Given the description of an element on the screen output the (x, y) to click on. 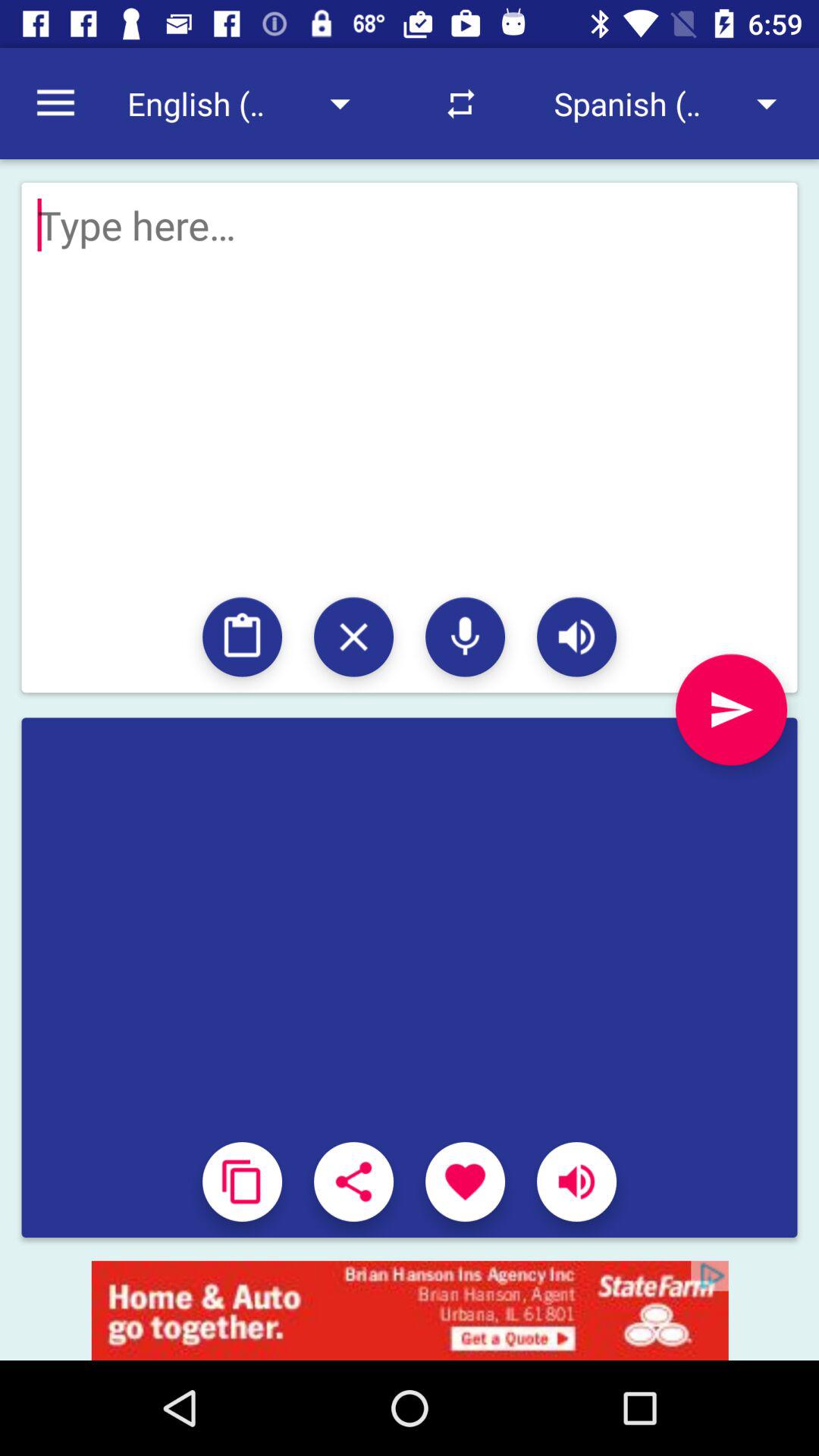
close (353, 636)
